Given the description of an element on the screen output the (x, y) to click on. 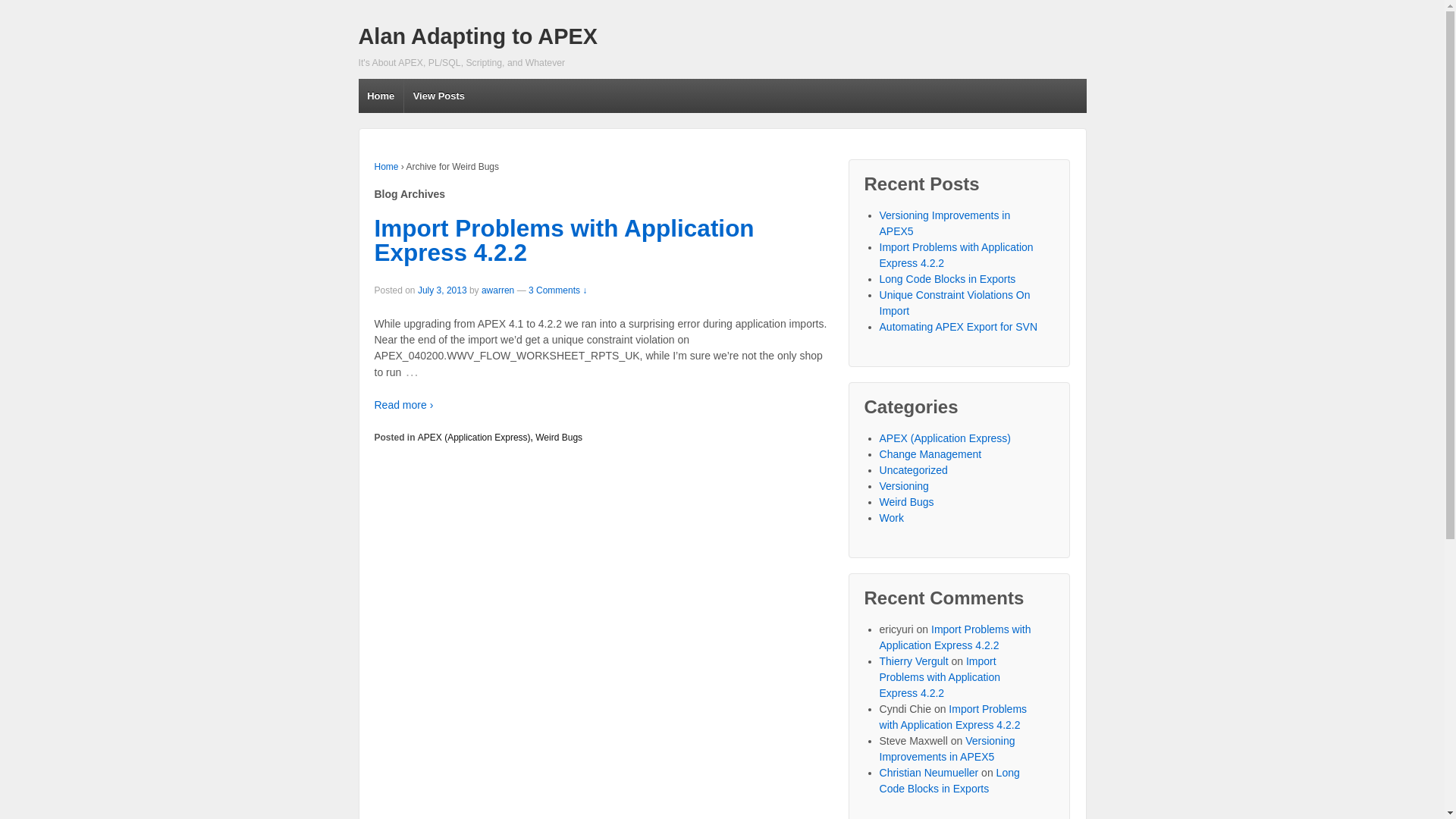
Home Element type: text (386, 166)
Christian Neumueller Element type: text (929, 772)
Alan Adapting to APEX Element type: text (476, 36)
awarren Element type: text (497, 290)
Weird Bugs Element type: text (558, 437)
Unique Constraint Violations On Import Element type: text (954, 302)
Home Element type: text (380, 95)
APEX (Application Express) Element type: text (473, 437)
Versioning Improvements in APEX5 Element type: text (944, 223)
Long Code Blocks in Exports Element type: text (947, 279)
Versioning Improvements in APEX5 Element type: text (947, 748)
Import Problems with Application Express 4.2.2 Element type: text (953, 716)
Versioning Element type: text (903, 486)
Automating APEX Export for SVN Element type: text (958, 326)
APEX (Application Express) Element type: text (945, 438)
Import Problems with Application Express 4.2.2 Element type: text (564, 240)
Import Problems with Application Express 4.2.2 Element type: text (956, 255)
July 3, 2013 Element type: text (442, 290)
Import Problems with Application Express 4.2.2 Element type: text (955, 637)
Import Problems with Application Express 4.2.2 Element type: text (940, 677)
Work Element type: text (891, 517)
View Posts Element type: text (438, 95)
Change Management Element type: text (930, 454)
Long Code Blocks in Exports Element type: text (949, 780)
Uncategorized Element type: text (913, 470)
Weird Bugs Element type: text (906, 501)
Thierry Vergult Element type: text (913, 661)
